Given the description of an element on the screen output the (x, y) to click on. 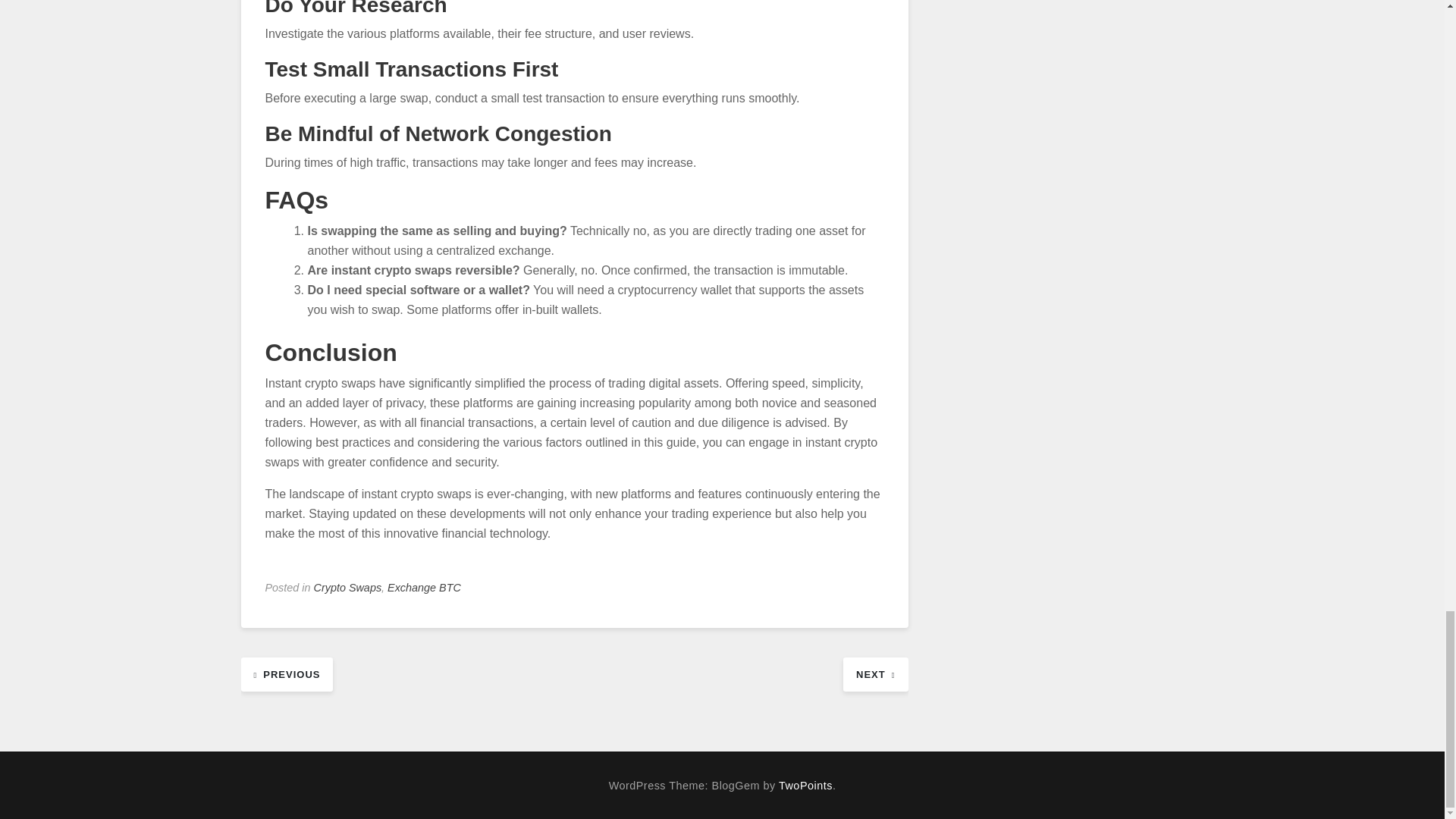
TwoPoints (805, 785)
NEXT (875, 673)
PREVIOUS (287, 673)
Exchange BTC (424, 587)
Crypto Swaps (347, 587)
